Given the description of an element on the screen output the (x, y) to click on. 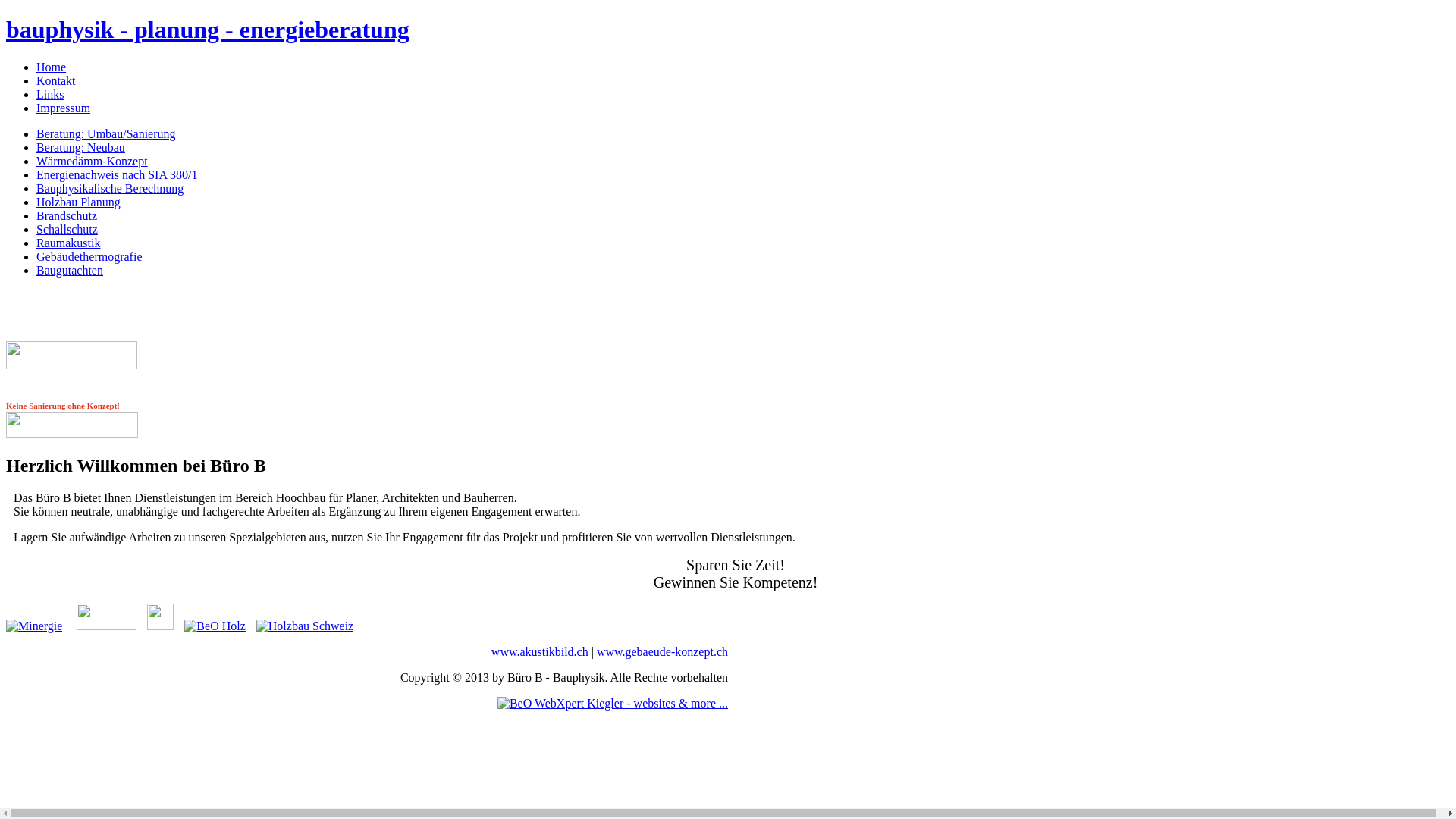
Links Element type: text (49, 93)
www.akustikbild.ch Element type: text (539, 651)
BeO Holz Element type: hover (210, 625)
Holzbau Planung Element type: text (78, 201)
Energienachweis nach SIA 380/1 Element type: text (116, 174)
Brandschutz Element type: text (66, 215)
Impressum Element type: text (63, 107)
Holzbau Schweiz Element type: hover (300, 625)
Baugutachten Element type: text (69, 269)
www.gebaeude-konzept.ch Element type: text (662, 651)
Kontakt Element type: text (55, 80)
Beratung: Umbau/Sanierung Element type: text (105, 133)
Raumakustik Element type: text (68, 242)
Bauphysikalische Berechnung Element type: text (109, 188)
bauphysik - planung - energieberatung Element type: text (207, 29)
www.akustikbild.ch Element type: hover (71, 364)
www.gebaeude-konzept.ch Element type: hover (72, 434)
Home Element type: text (50, 66)
Beratung: Neubau Element type: text (80, 147)
BeO WebXpert Kiegler - websites & more ... Element type: hover (612, 702)
Schallschutz Element type: text (66, 228)
LIGNUM - Holzwirtschaft Schweiz Element type: hover (156, 625)
